Given the description of an element on the screen output the (x, y) to click on. 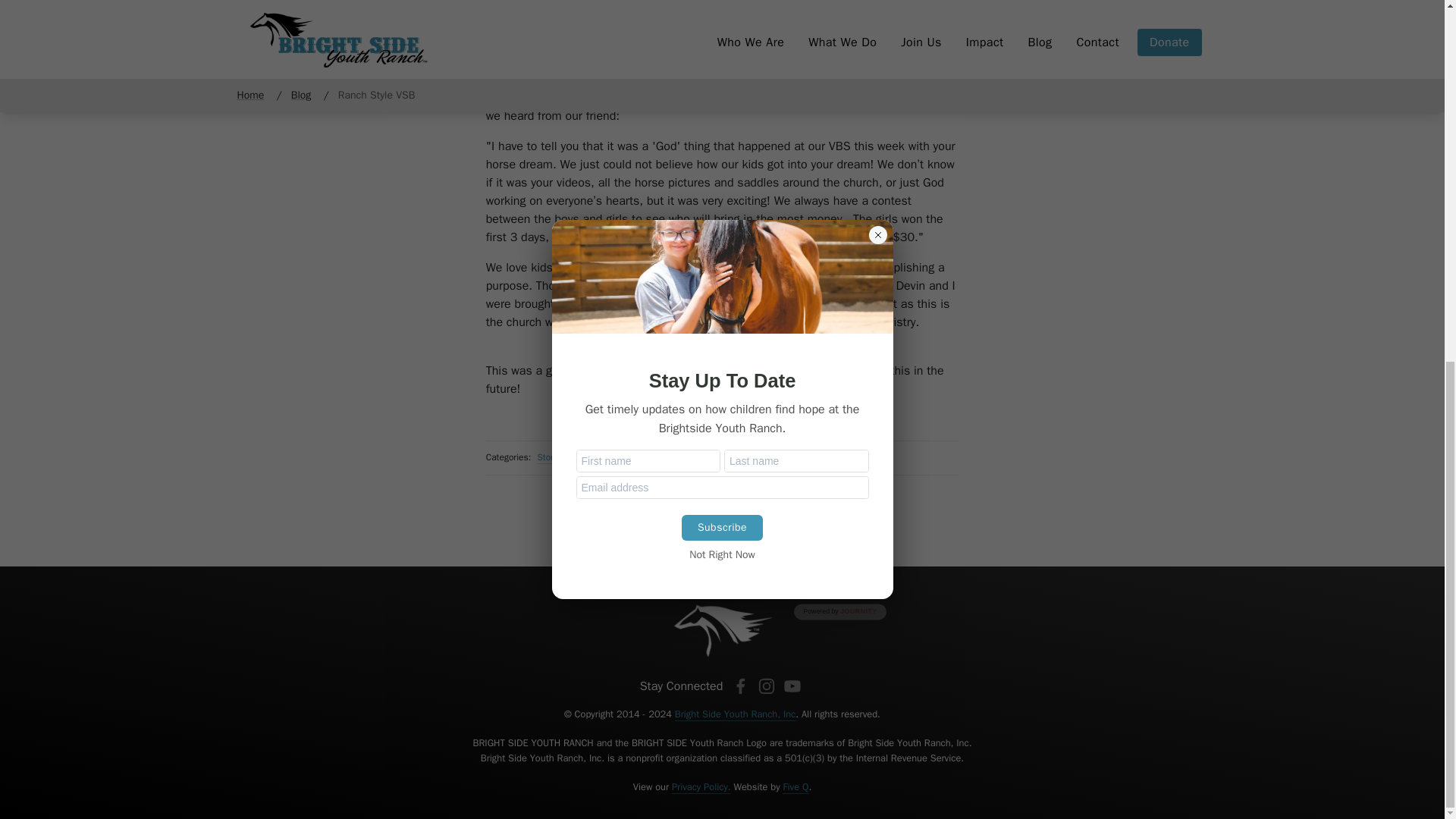
Bright Side Youth Ranch, Inc (734, 714)
Privacy Policy. (700, 787)
Five Q (795, 787)
